Given the description of an element on the screen output the (x, y) to click on. 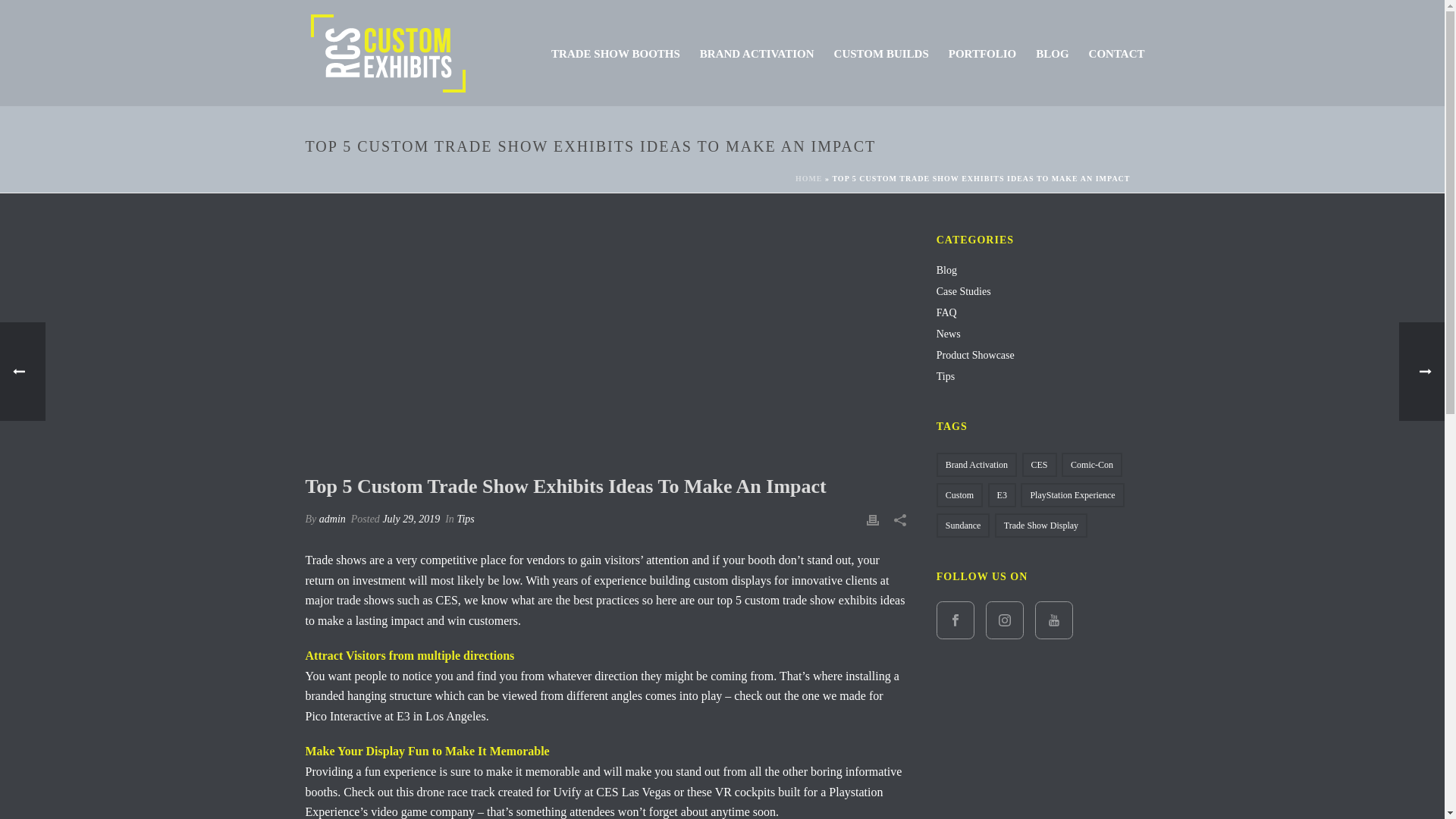
PORTFOLIO (982, 54)
Follow Us on youtube (1054, 620)
HOME (808, 178)
Posts by admin (332, 518)
E3 in Los Angeles (441, 716)
BRAND ACTIVATION (757, 54)
Tips (465, 518)
PORTFOLIO (982, 54)
CUSTOM BUILDS (881, 54)
Follow Us on instagram (1004, 620)
TRADE SHOW BOOTHS (615, 54)
admin (332, 518)
